Given the description of an element on the screen output the (x, y) to click on. 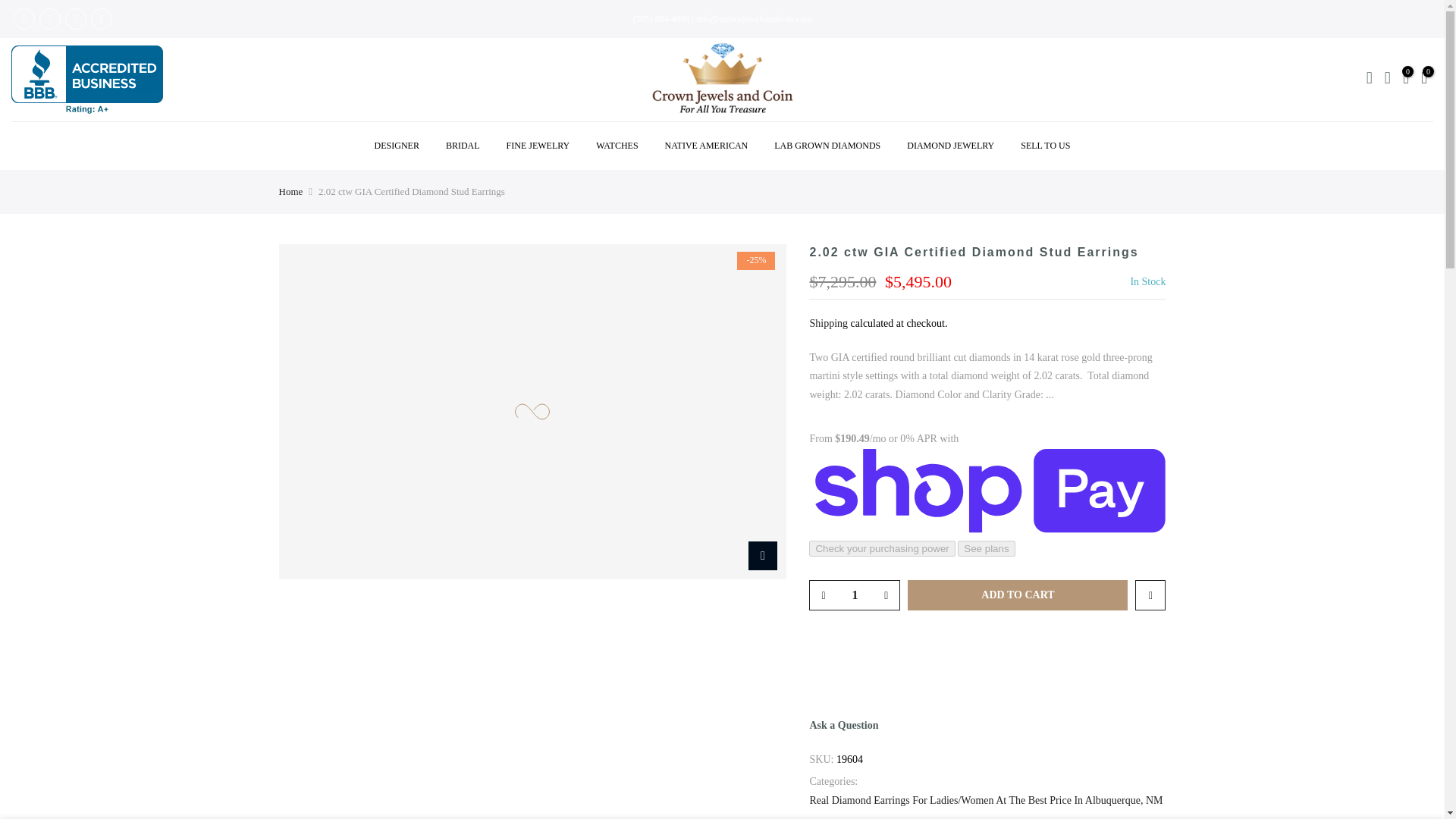
FINE JEWELRY (538, 145)
WATCHES (616, 145)
0 (1405, 79)
NATIVE AMERICAN (705, 145)
DESIGNER (396, 145)
BRIDAL (462, 145)
LAB GROWN DIAMONDS (827, 145)
1 (854, 594)
